Given the description of an element on the screen output the (x, y) to click on. 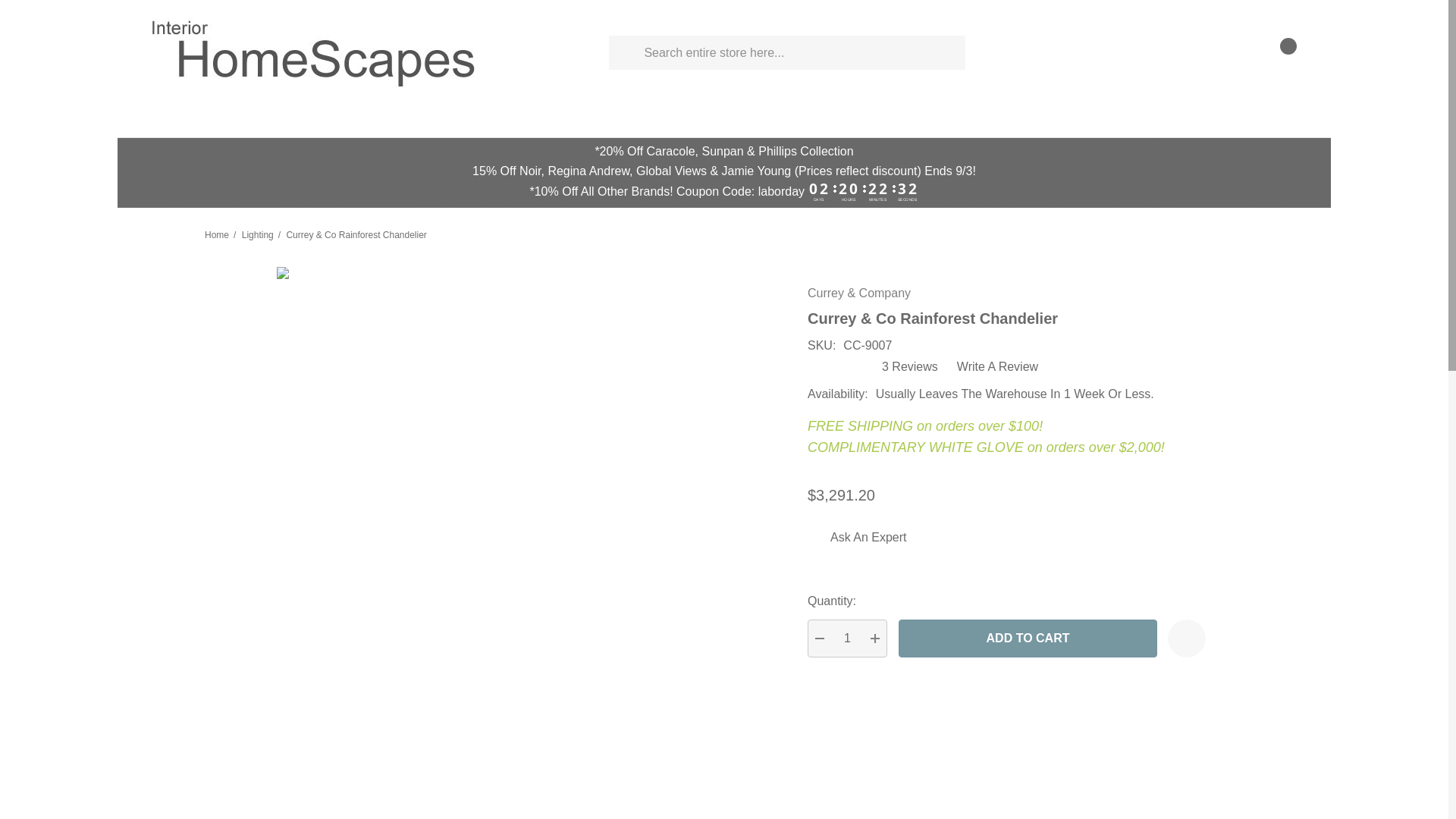
Add to Cart (1027, 638)
Interior HomeScapes (315, 52)
1 (847, 638)
